Given the description of an element on the screen output the (x, y) to click on. 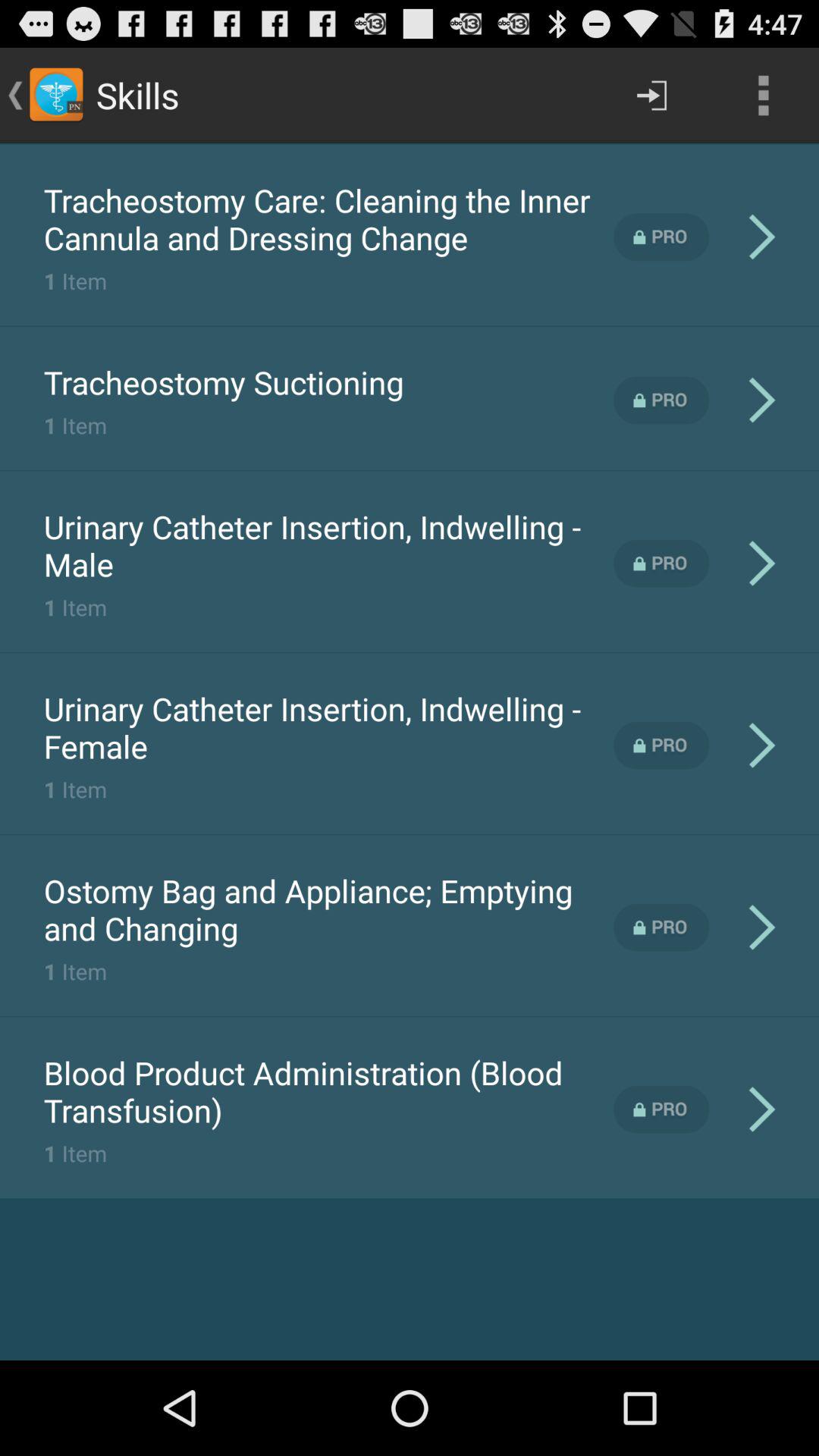
verify pro option (661, 237)
